Given the description of an element on the screen output the (x, y) to click on. 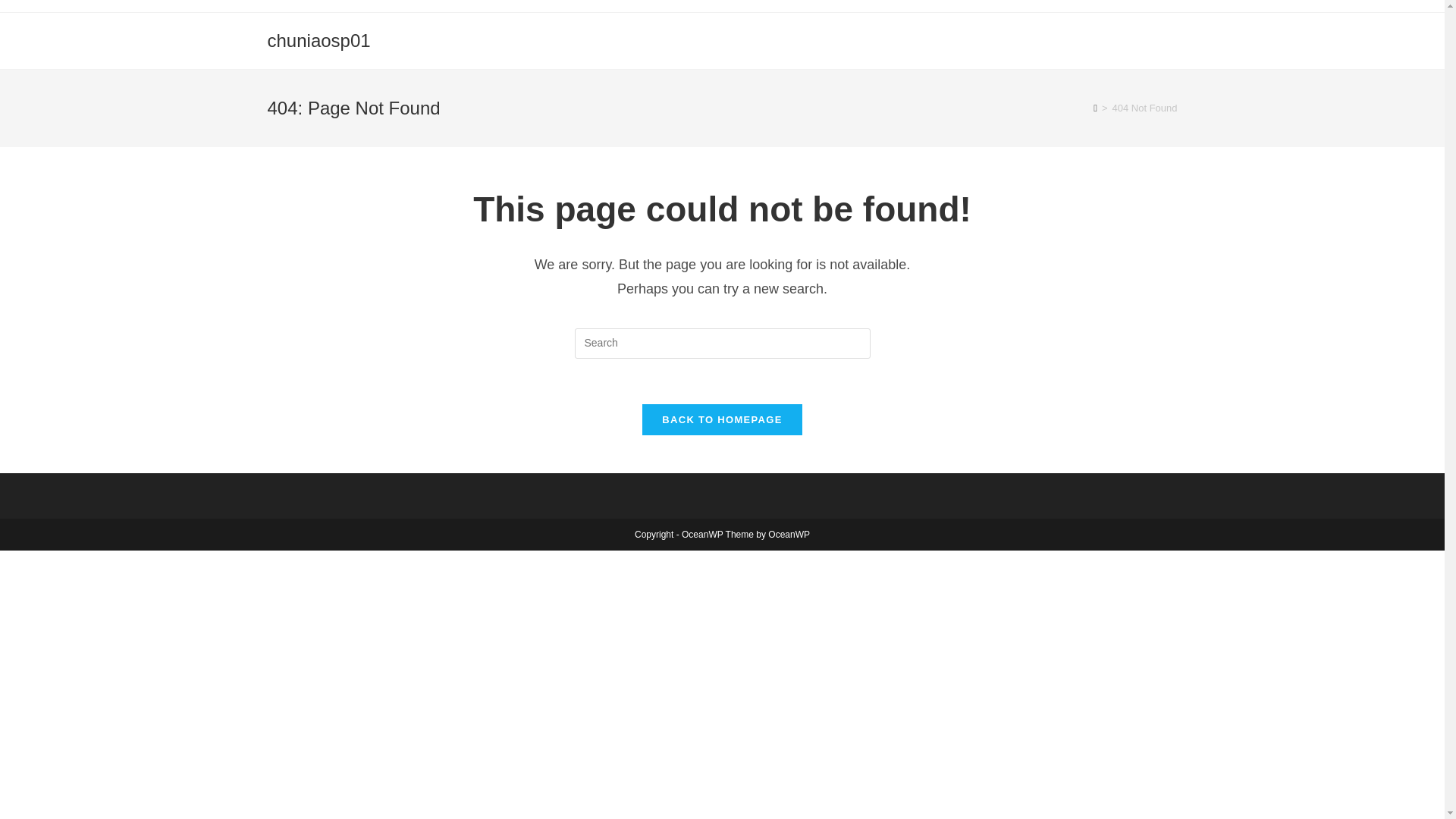
BACK TO HOMEPAGE (722, 419)
chuniaosp01 (317, 40)
